Given the description of an element on the screen output the (x, y) to click on. 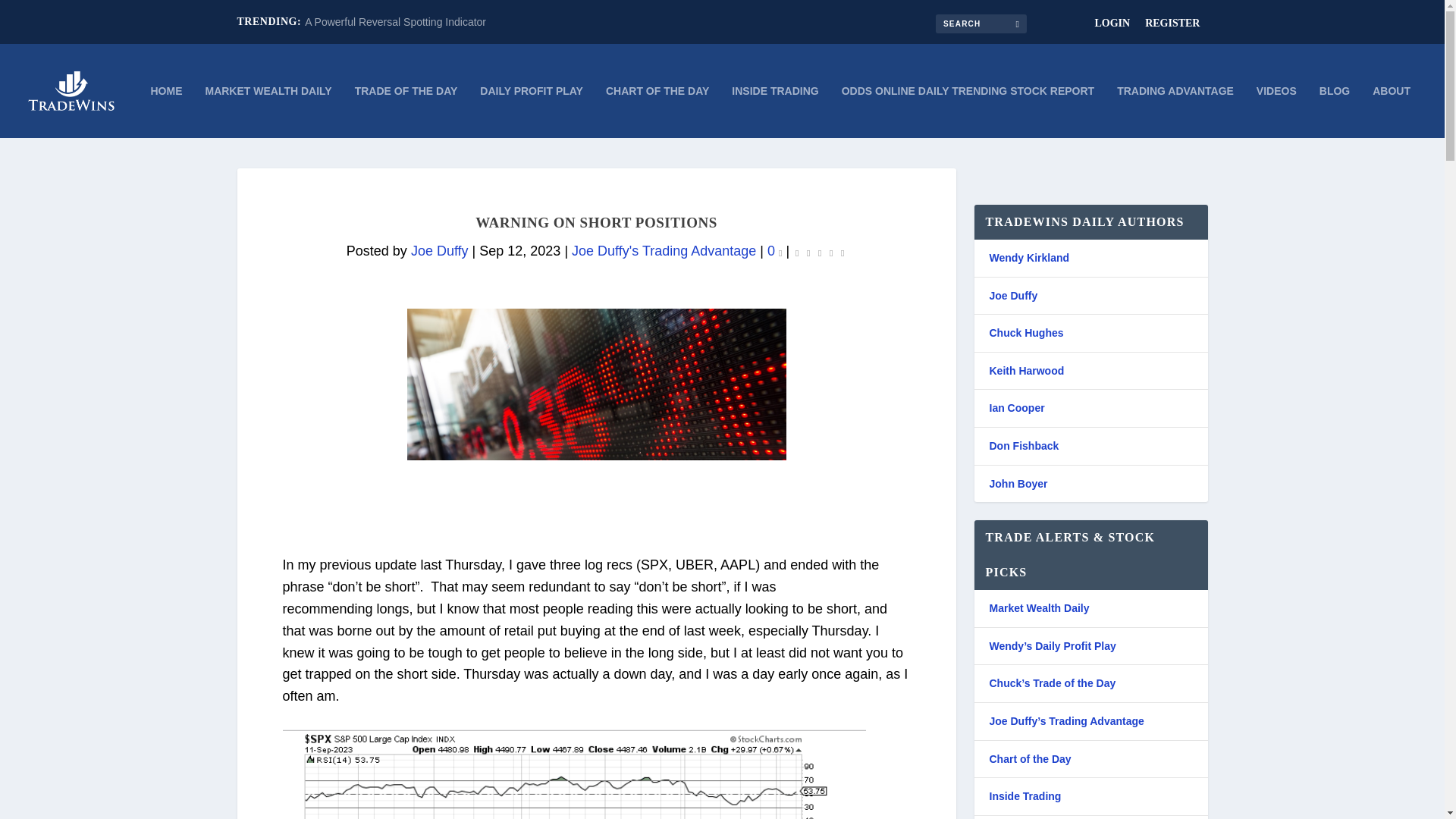
LOGIN (1111, 22)
MARKET WEALTH DAILY (268, 111)
Search for: (981, 22)
CHART OF THE DAY (657, 111)
Joe Duffy's Trading Advantage (663, 250)
ODDS ONLINE DAILY TRENDING STOCK REPORT (967, 111)
A Powerful Reversal Spotting Indicator (395, 21)
INSIDE TRADING (775, 111)
TRADING ADVANTAGE (1174, 111)
Rating: 0.00 (819, 251)
